Given the description of an element on the screen output the (x, y) to click on. 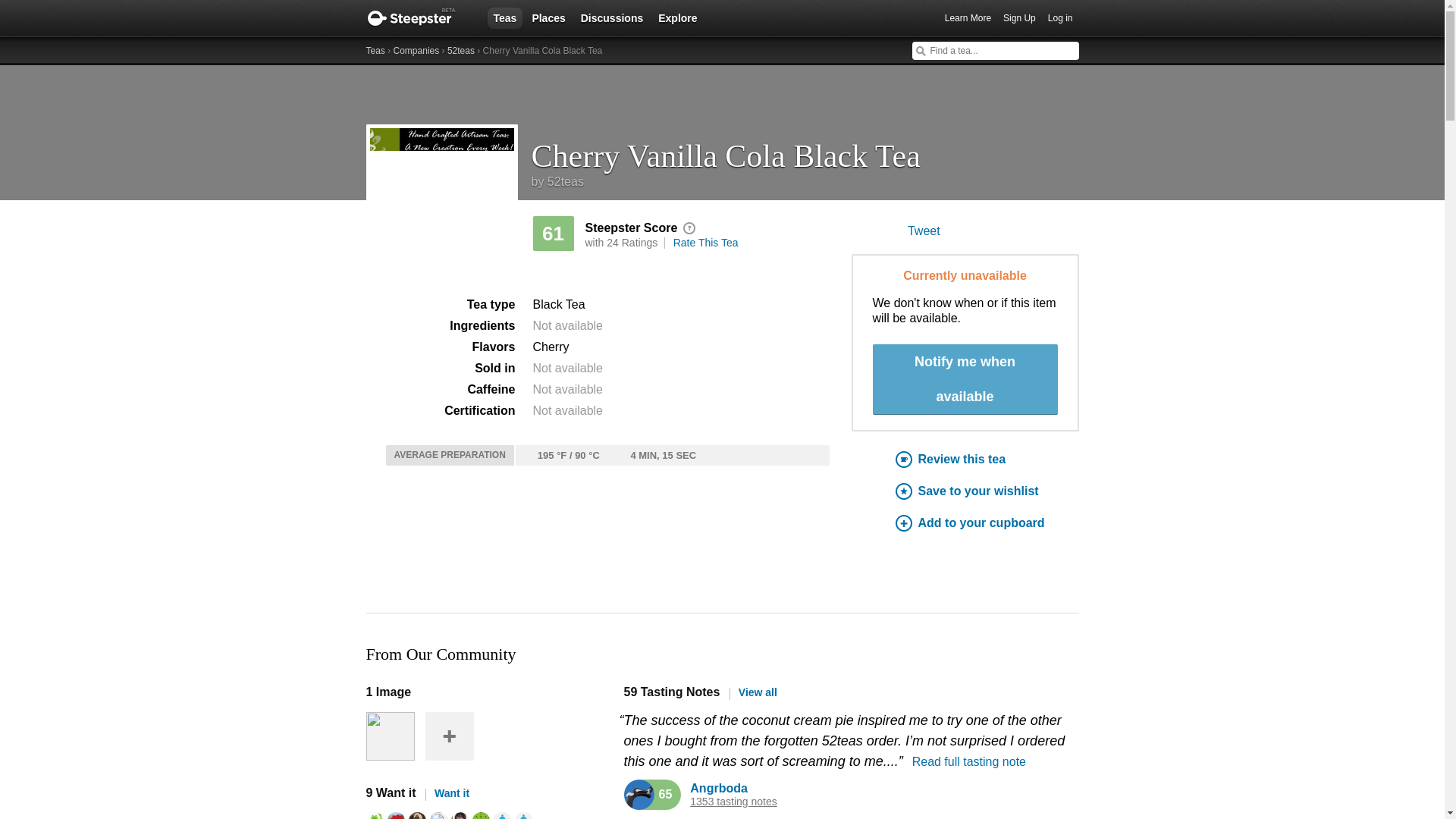
Tweet (923, 230)
Teas (504, 17)
Teas (374, 50)
Sign Up (1019, 18)
Companies (416, 50)
Add to your cupboard (986, 522)
Learn More (968, 18)
Explore (677, 17)
Black Tea (558, 304)
Cherry Vanilla Cola Black Tea (804, 150)
